Given the description of an element on the screen output the (x, y) to click on. 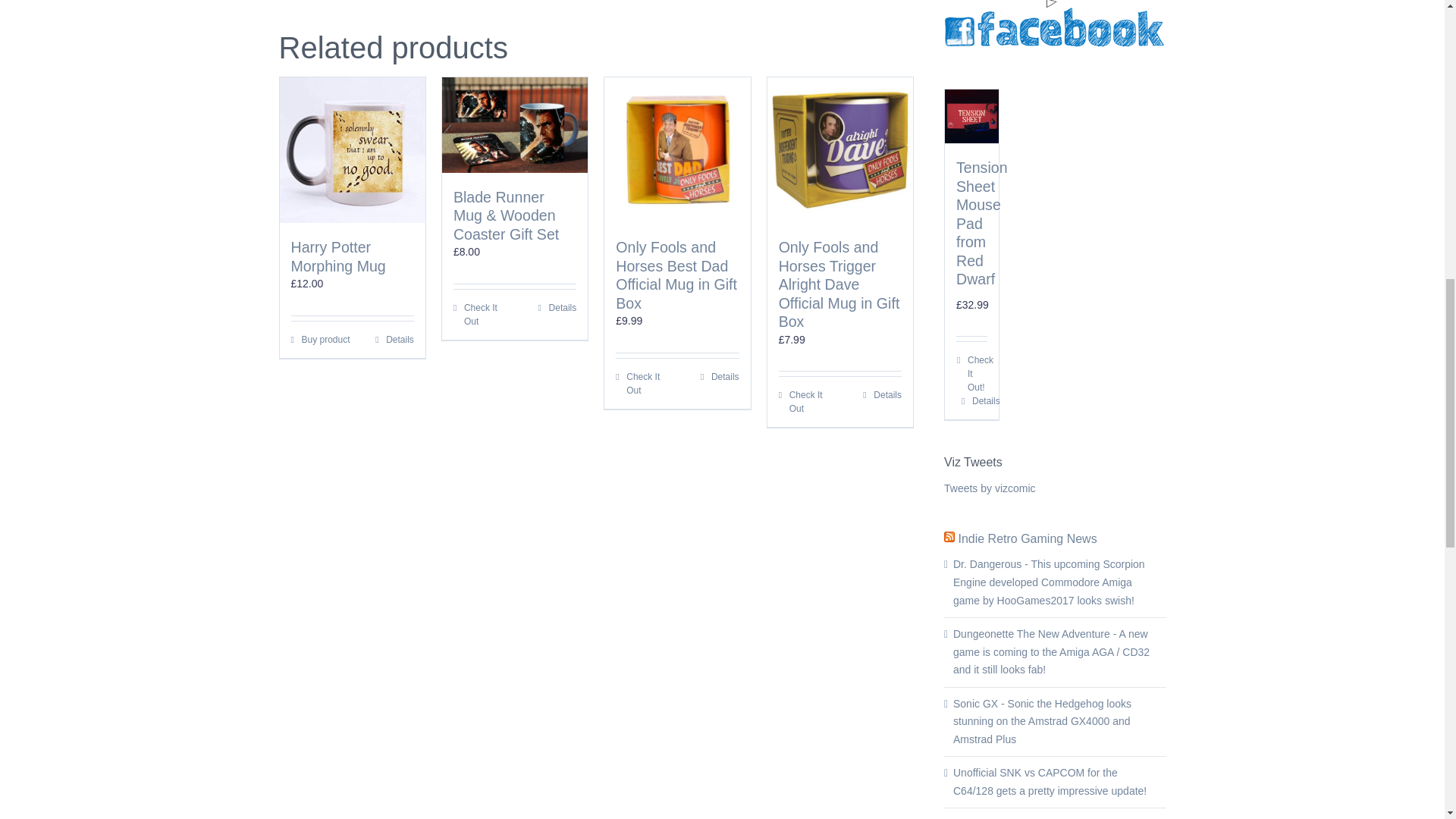
Harry Potter Morphing Mug 1 Gifts for Movie Lovers (352, 149)
